Given the description of an element on the screen output the (x, y) to click on. 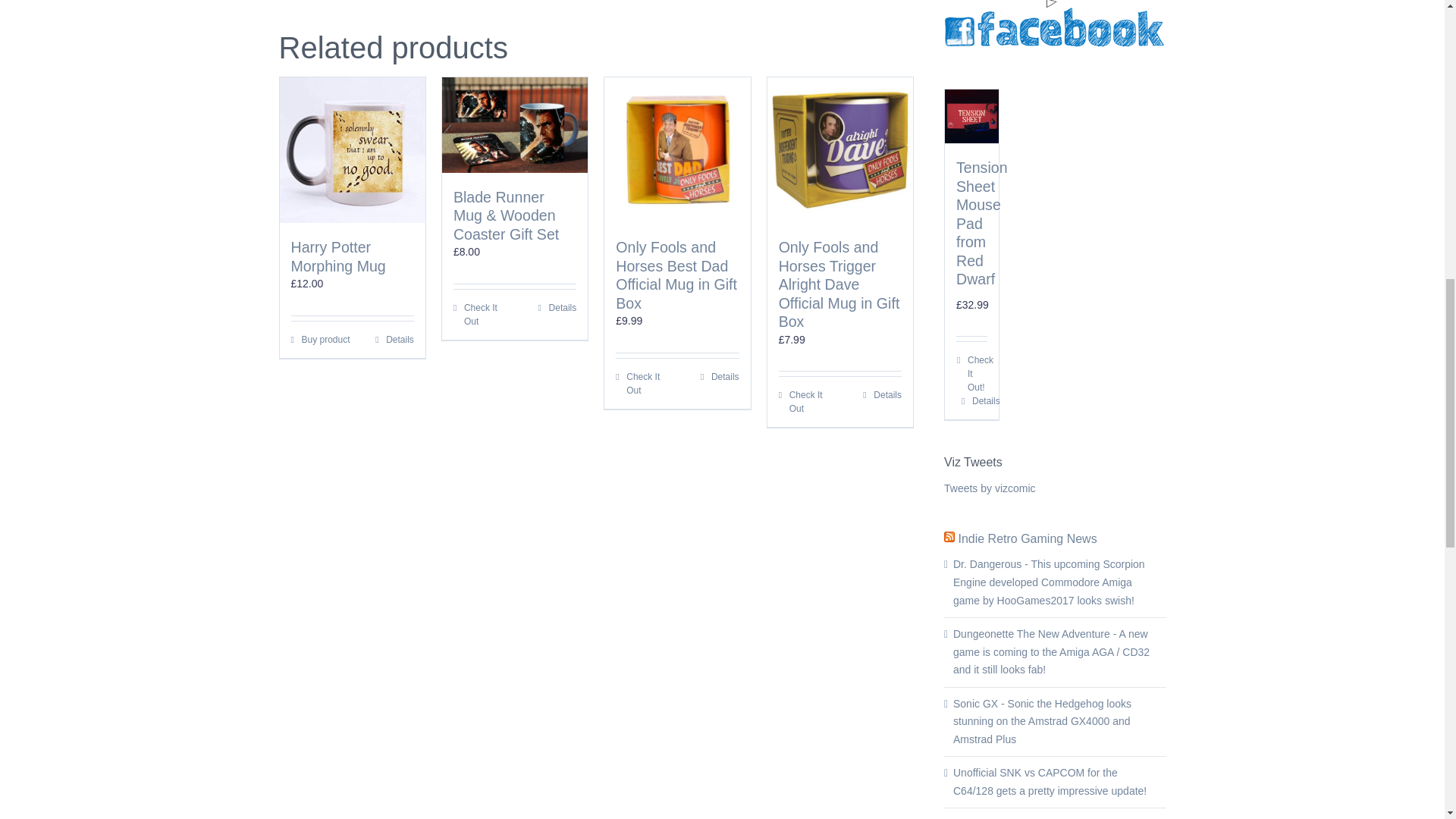
Harry Potter Morphing Mug 1 Gifts for Movie Lovers (352, 149)
